Given the description of an element on the screen output the (x, y) to click on. 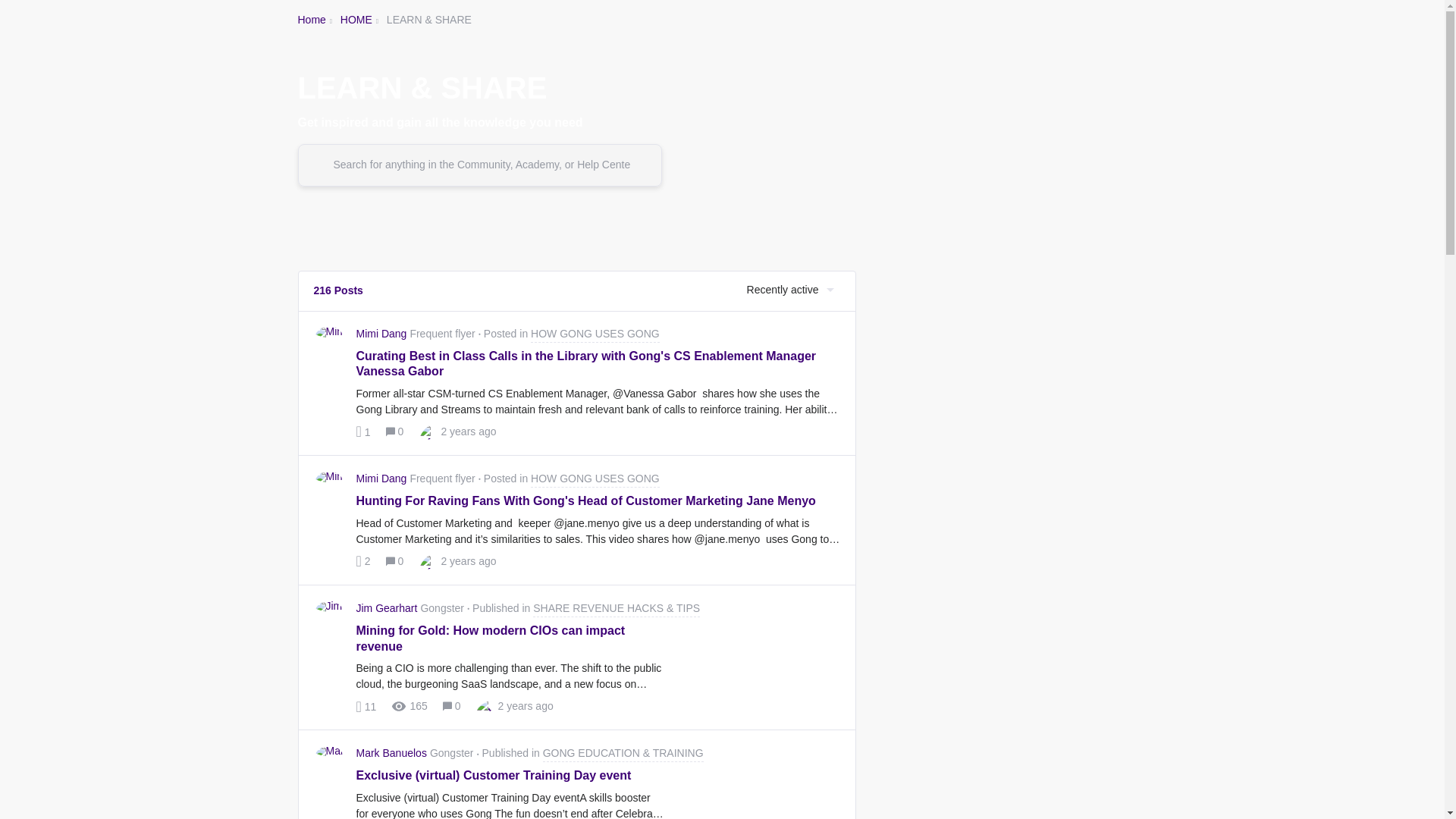
2 years ago (468, 561)
HOME (356, 19)
0 (451, 706)
Jim Gearhart (386, 608)
1 (363, 431)
Mark Banuelos (391, 753)
Home (310, 19)
2 years ago (525, 706)
11 (571, 478)
2 (366, 706)
Mimi Dang (363, 561)
